Given the description of an element on the screen output the (x, y) to click on. 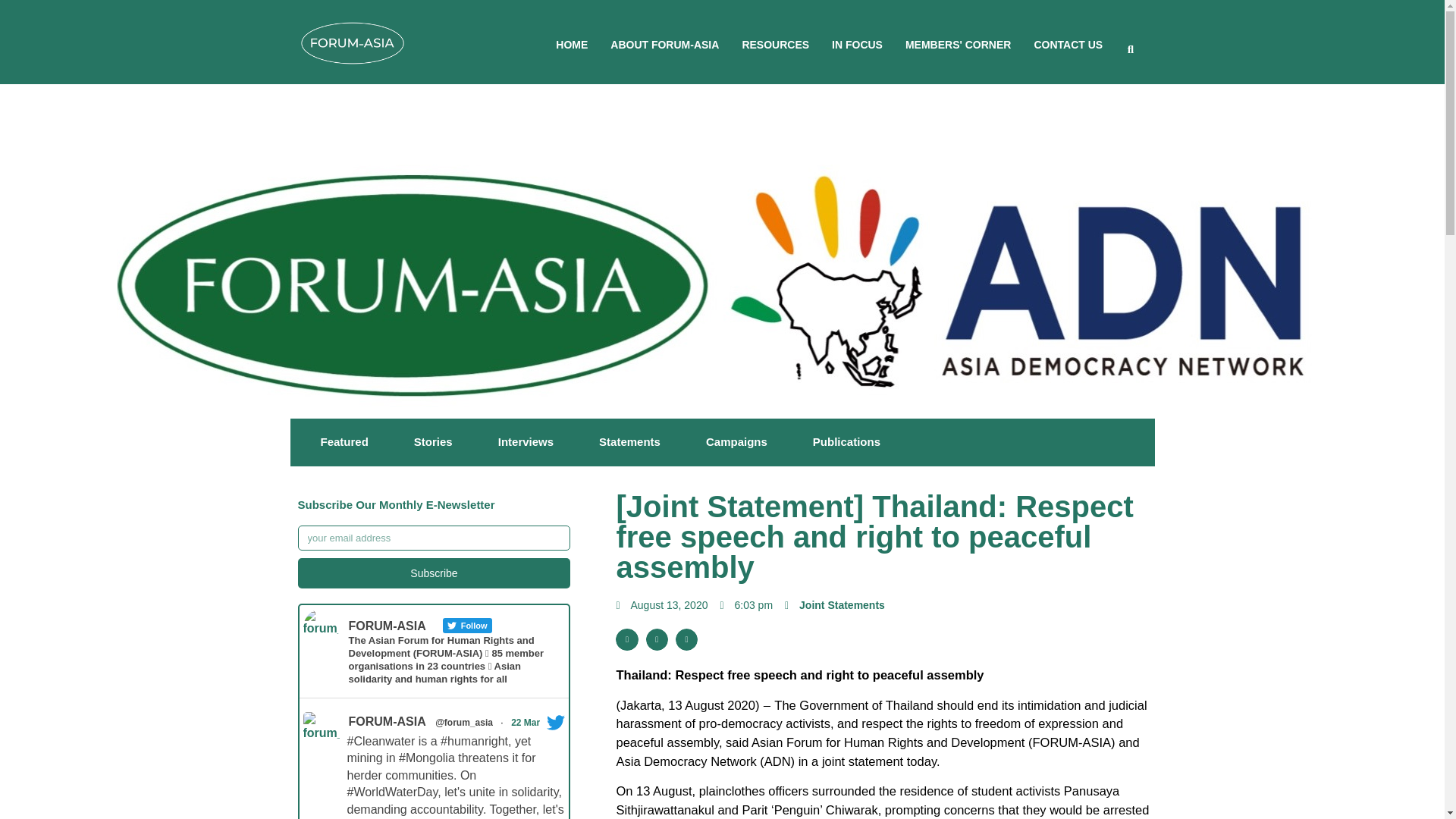
MEMBERS' CORNER (957, 44)
RESOURCES (774, 44)
ABOUT FORUM-ASIA (664, 44)
HOME (571, 44)
IN FOCUS (856, 44)
CONTACT US (1067, 44)
